Given the description of an element on the screen output the (x, y) to click on. 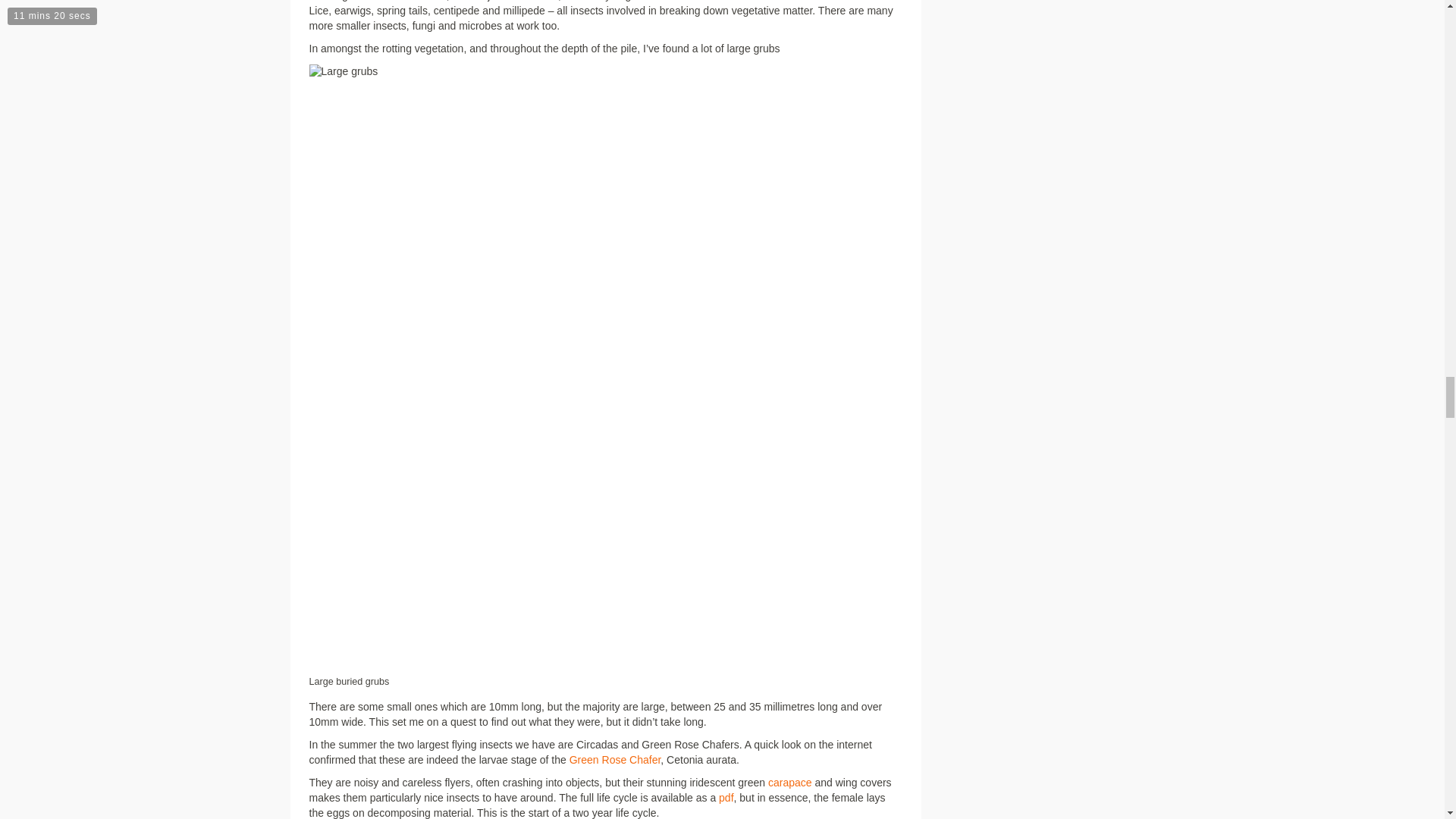
carapace (790, 782)
pdf (726, 797)
Green Rose Chafer (615, 759)
